Given the description of an element on the screen output the (x, y) to click on. 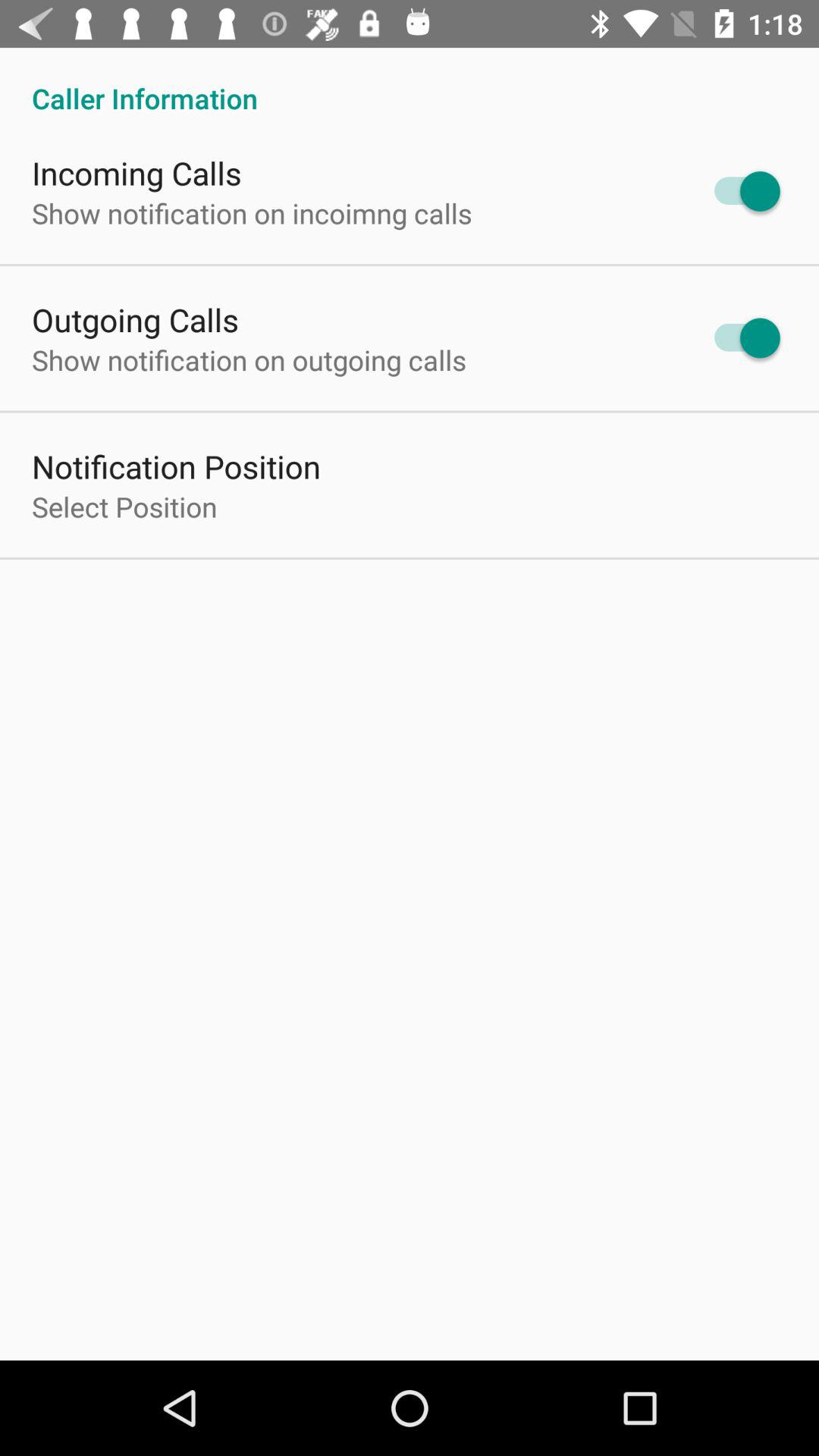
scroll until caller information app (409, 82)
